Given the description of an element on the screen output the (x, y) to click on. 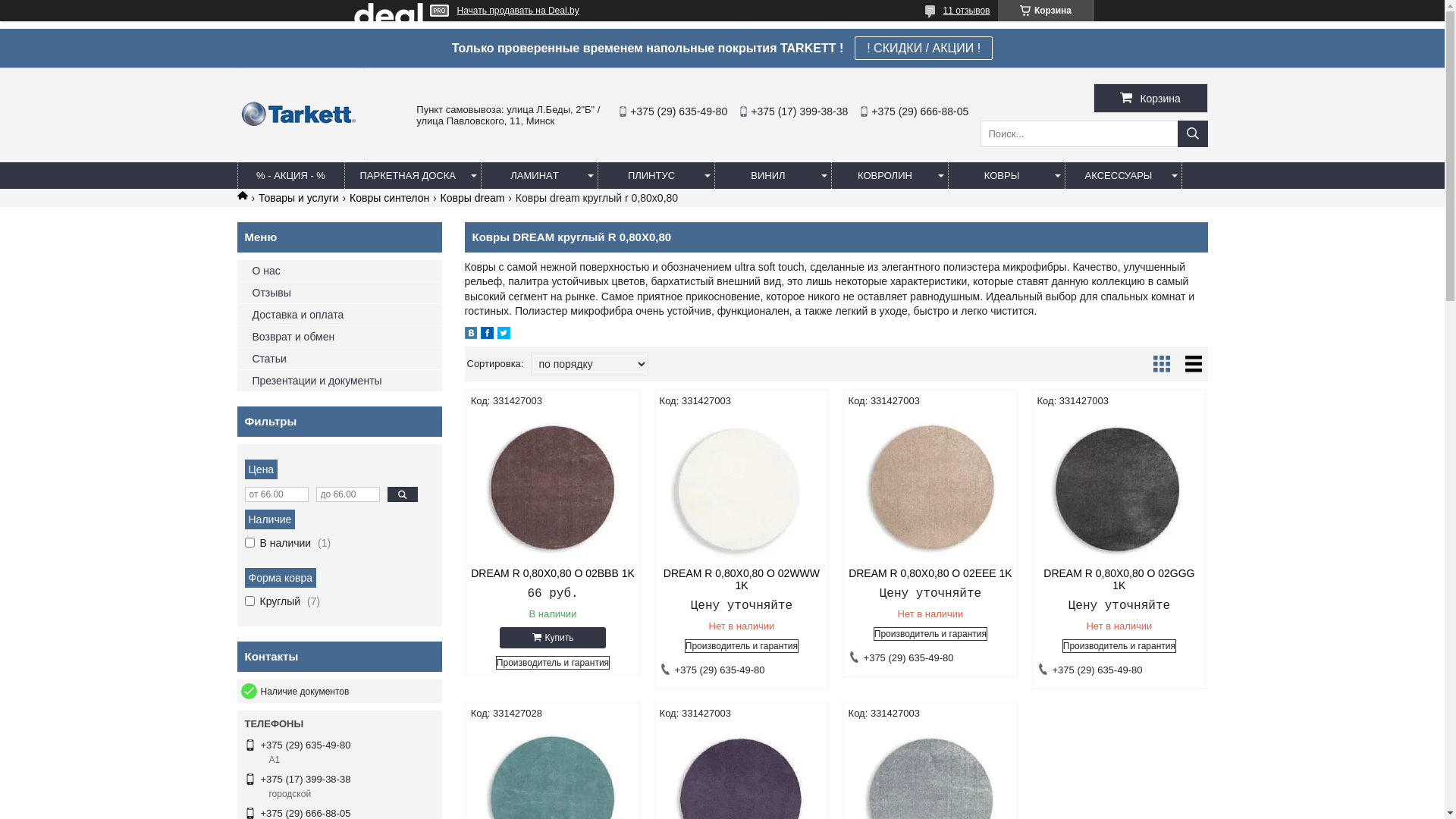
DREAM R 0,80X0,80 O 02BBB 1K Element type: hover (552, 486)
DREAM R 0,80X0,80 O 02GGG 1K Element type: hover (1119, 486)
DREAM R 0,80X0,80 O 02EEE 1K Element type: hover (930, 486)
facebook Element type: hover (486, 335)
DREAM R 0,80X0,80 O 02WWW 1K Element type: text (741, 579)
DREAM R 0,80X0,80 O 02BBB 1K Element type: text (552, 573)
DREAM R 0,80X0,80 O 02GGG 1K Element type: text (1119, 579)
DREAM R 0,80X0,80 O 02EEE 1K Element type: text (930, 573)
twitter Element type: hover (503, 335)
DREAM R 0,80X0,80 O 02WWW 1K Element type: hover (741, 486)
